Given the description of an element on the screen output the (x, y) to click on. 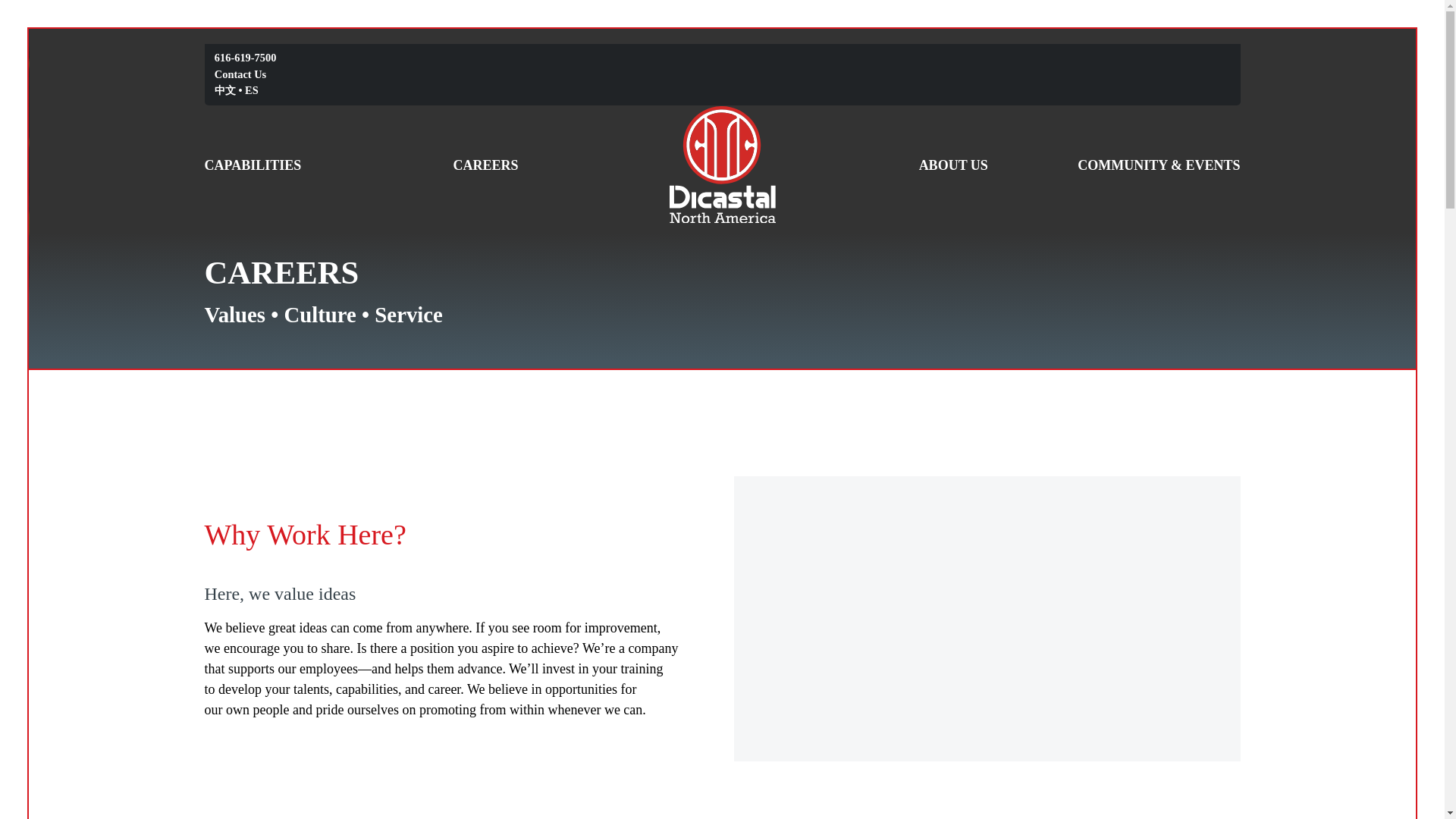
ABOUT US (953, 165)
616-619-7500 (245, 57)
Contact Us (240, 74)
CAPABILITIES (253, 165)
HOME (721, 164)
CAREERS (485, 165)
Dicastal North America, Inc. (721, 164)
